Given the description of an element on the screen output the (x, y) to click on. 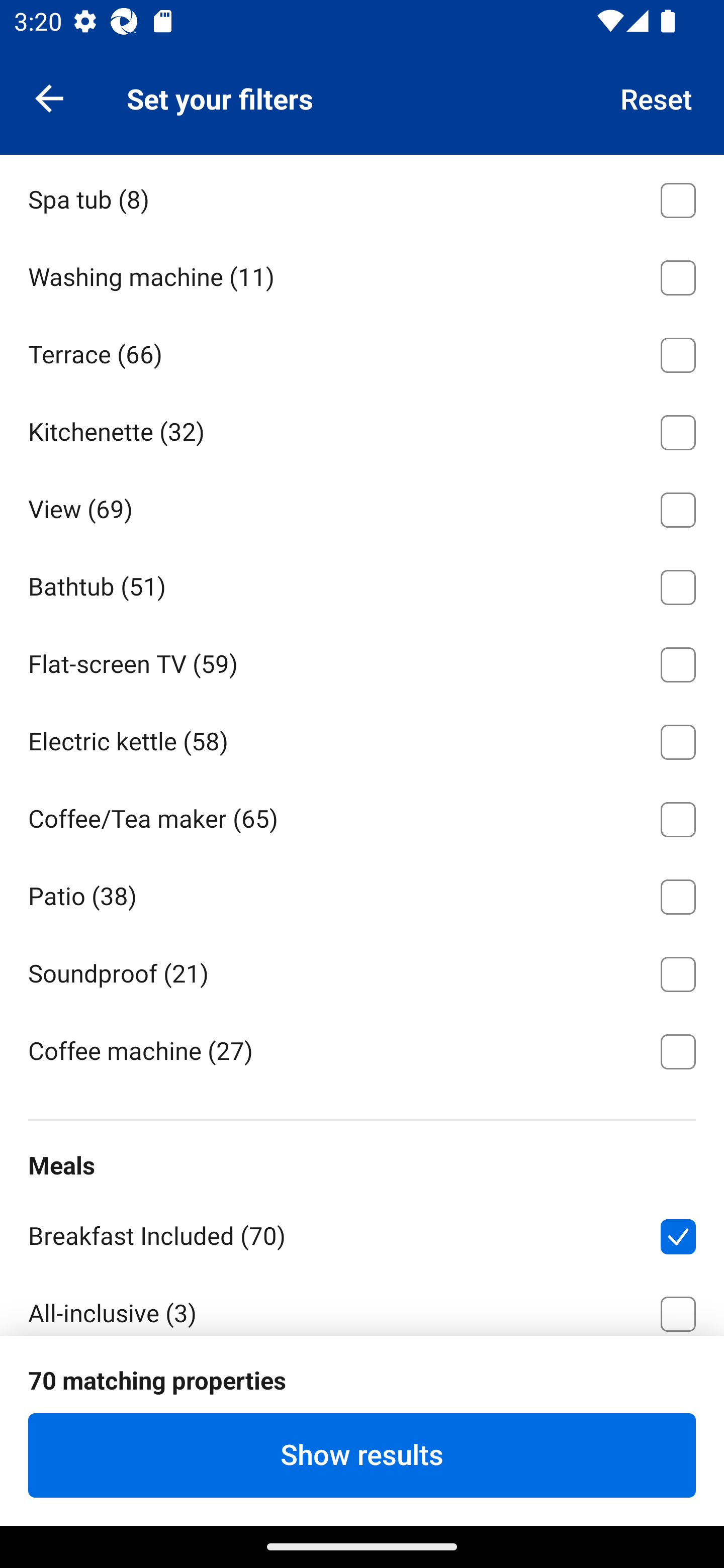
Navigate up (49, 97)
Reset (656, 97)
Spa tub ⁦(8) (361, 196)
Washing machine ⁦(11) (361, 274)
Terrace ⁦(66) (361, 351)
Kitchenette ⁦(32) (361, 428)
View ⁦(69) (361, 506)
Bathtub ⁦(51) (361, 583)
Flat-screen TV ⁦(59) (361, 660)
Electric kettle ⁦(58) (361, 738)
Coffee/Tea maker ⁦(65) (361, 815)
Patio ⁦(38) (361, 893)
Soundproof ⁦(21) (361, 970)
Coffee machine ⁦(27) (361, 1050)
Breakfast Included ⁦(70) (361, 1232)
All-inclusive ⁦(3) (361, 1303)
Breakfast & dinner included ⁦(2) (361, 1388)
Show results (361, 1454)
